Given the description of an element on the screen output the (x, y) to click on. 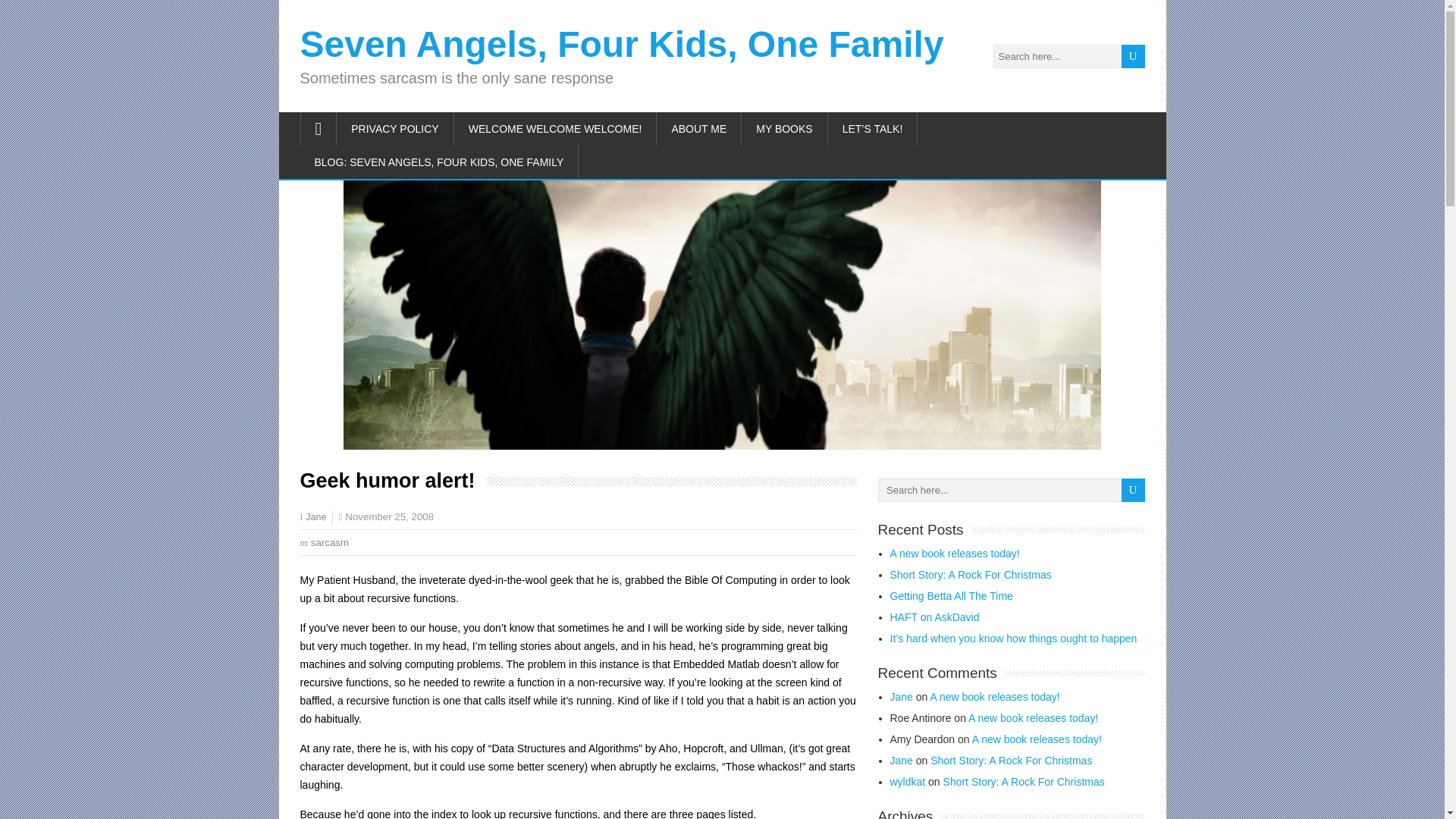
sarcasm (330, 542)
U (1132, 490)
HAFT on AskDavid (934, 616)
U (1132, 56)
ABOUT ME (698, 128)
U (1132, 56)
MY BOOKS (784, 128)
U (1132, 56)
Getting Betta All The Time (951, 595)
WELCOME WELCOME WELCOME! (556, 128)
